Given the description of an element on the screen output the (x, y) to click on. 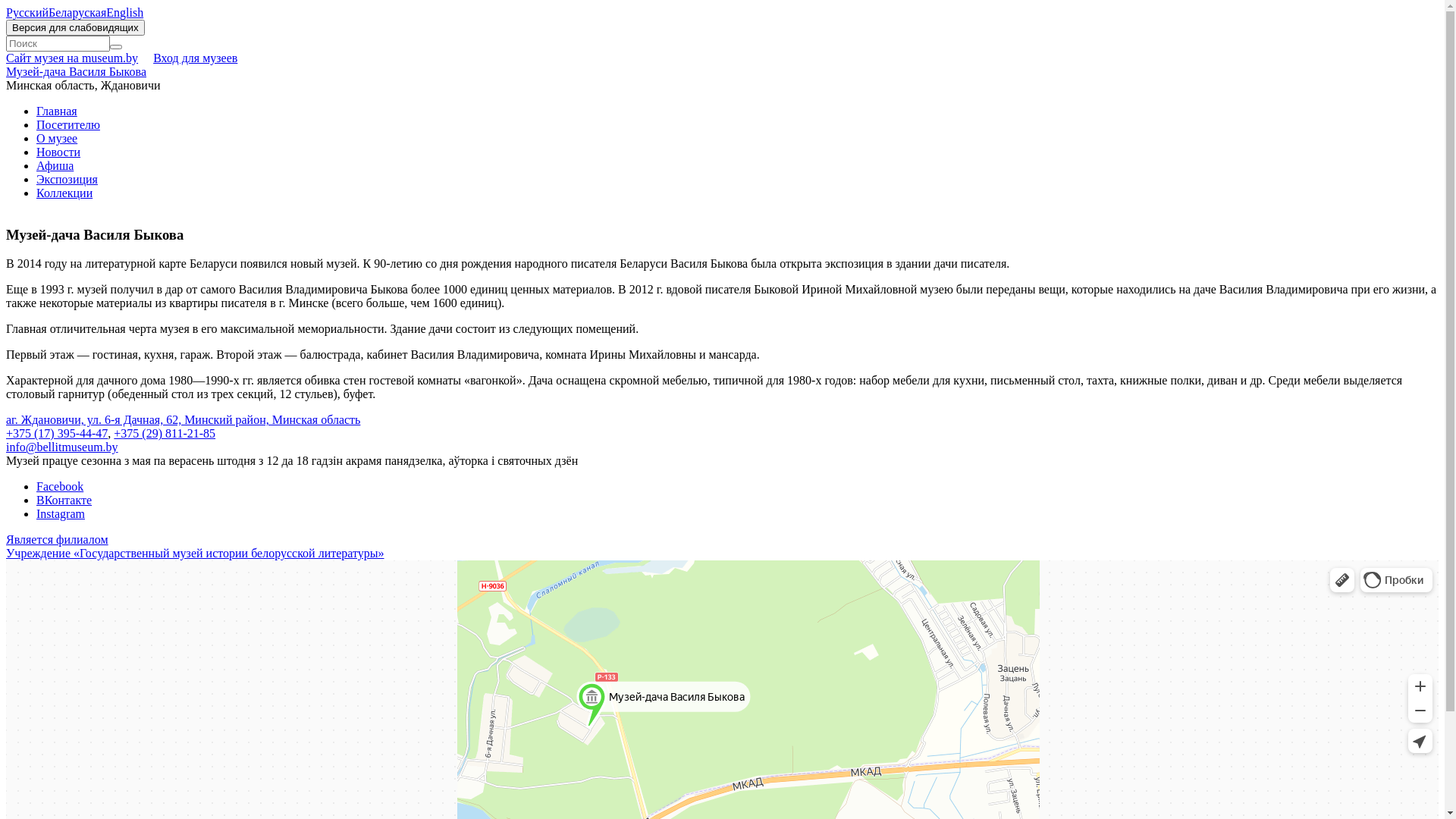
+375 (29) 811-21-85 Element type: text (164, 432)
Instagram Element type: text (60, 513)
English Element type: text (124, 12)
Facebook Element type: text (59, 486)
+375 (17) 395-44-47 Element type: text (56, 432)
info@bellitmuseum.by Element type: text (62, 446)
